Given the description of an element on the screen output the (x, y) to click on. 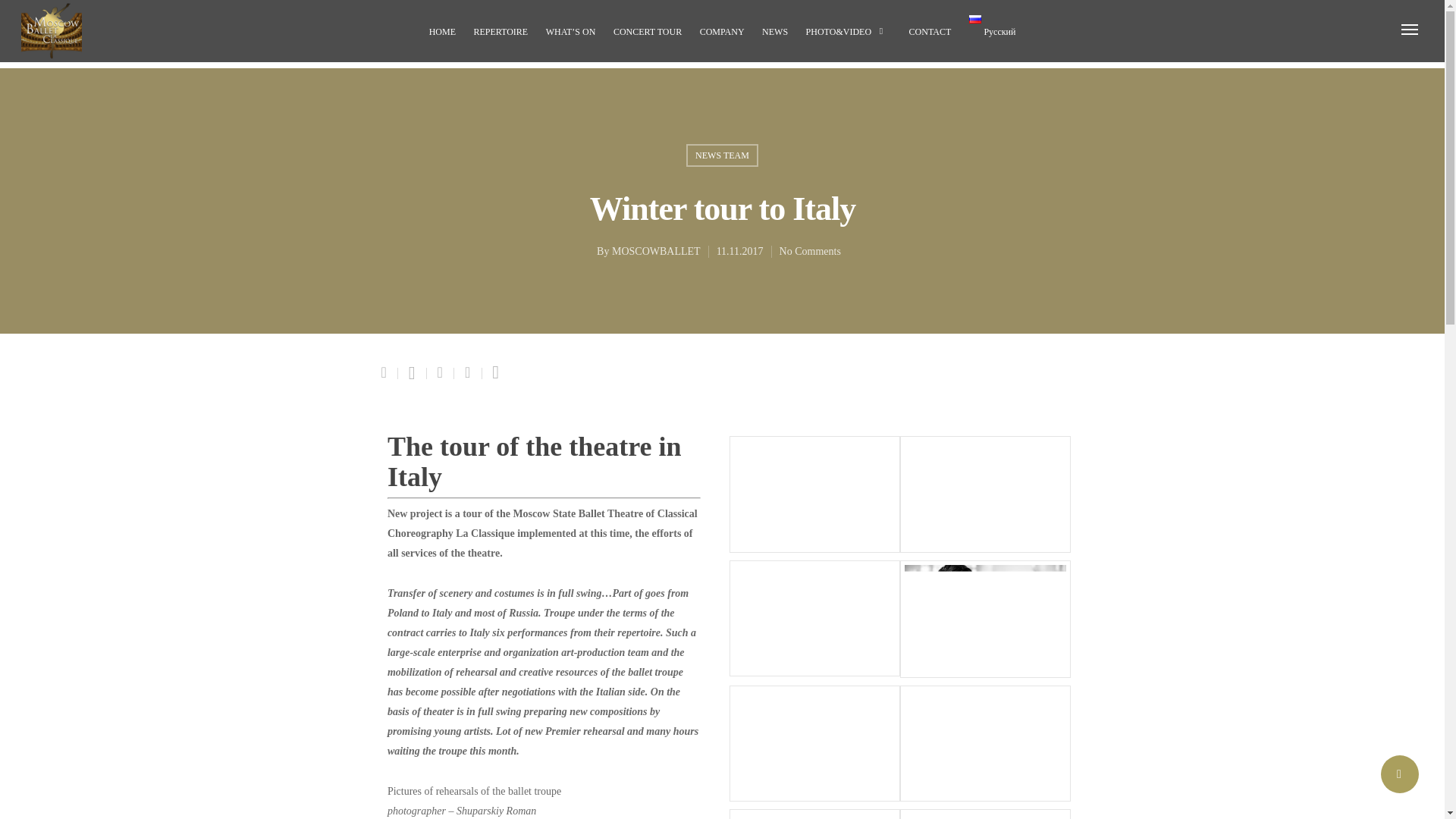
Share this (440, 373)
Pin this (496, 373)
Share this (467, 373)
REPERTOIRE (500, 35)
No Comments (809, 251)
Tweet this (411, 373)
Share this (384, 373)
MOSCOWBALLET (655, 251)
NEWS TEAM (721, 155)
Posts by MOSCOWBALLET (655, 251)
